Given the description of an element on the screen output the (x, y) to click on. 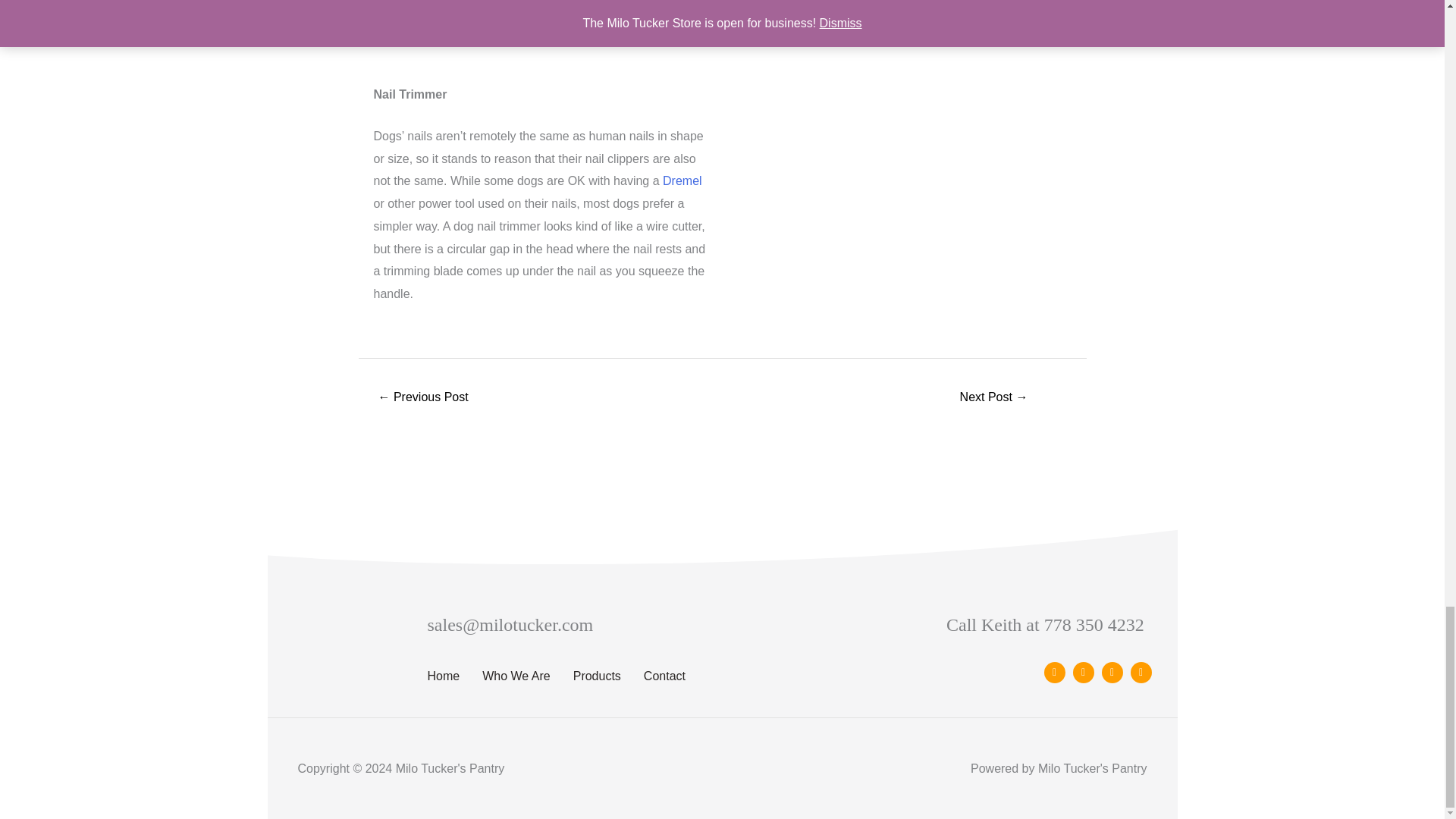
Who We Are (515, 676)
Contact (664, 676)
Home (444, 676)
Products (597, 676)
Facebook (1054, 672)
Call Keith at 778 350 4232 (1045, 624)
Karelian Bear Dog (993, 398)
Dremel (681, 180)
Canaan Dog (422, 398)
